Given the description of an element on the screen output the (x, y) to click on. 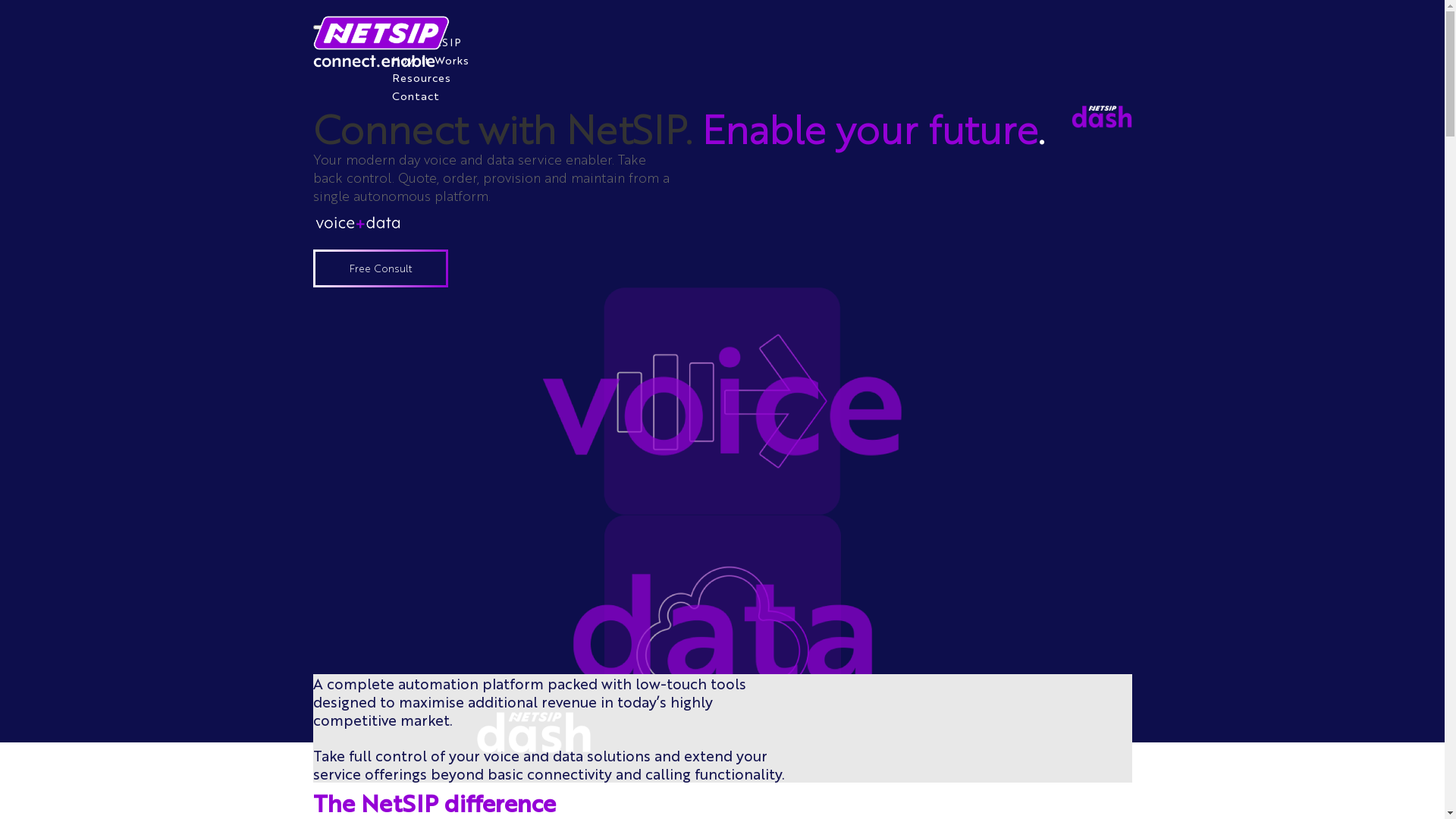
Resources Element type: text (420, 77)
Contact Element type: text (415, 95)
How It Works Element type: text (429, 59)
Free Consult Element type: text (379, 268)
Why NetSIP Element type: text (426, 41)
